Given the description of an element on the screen output the (x, y) to click on. 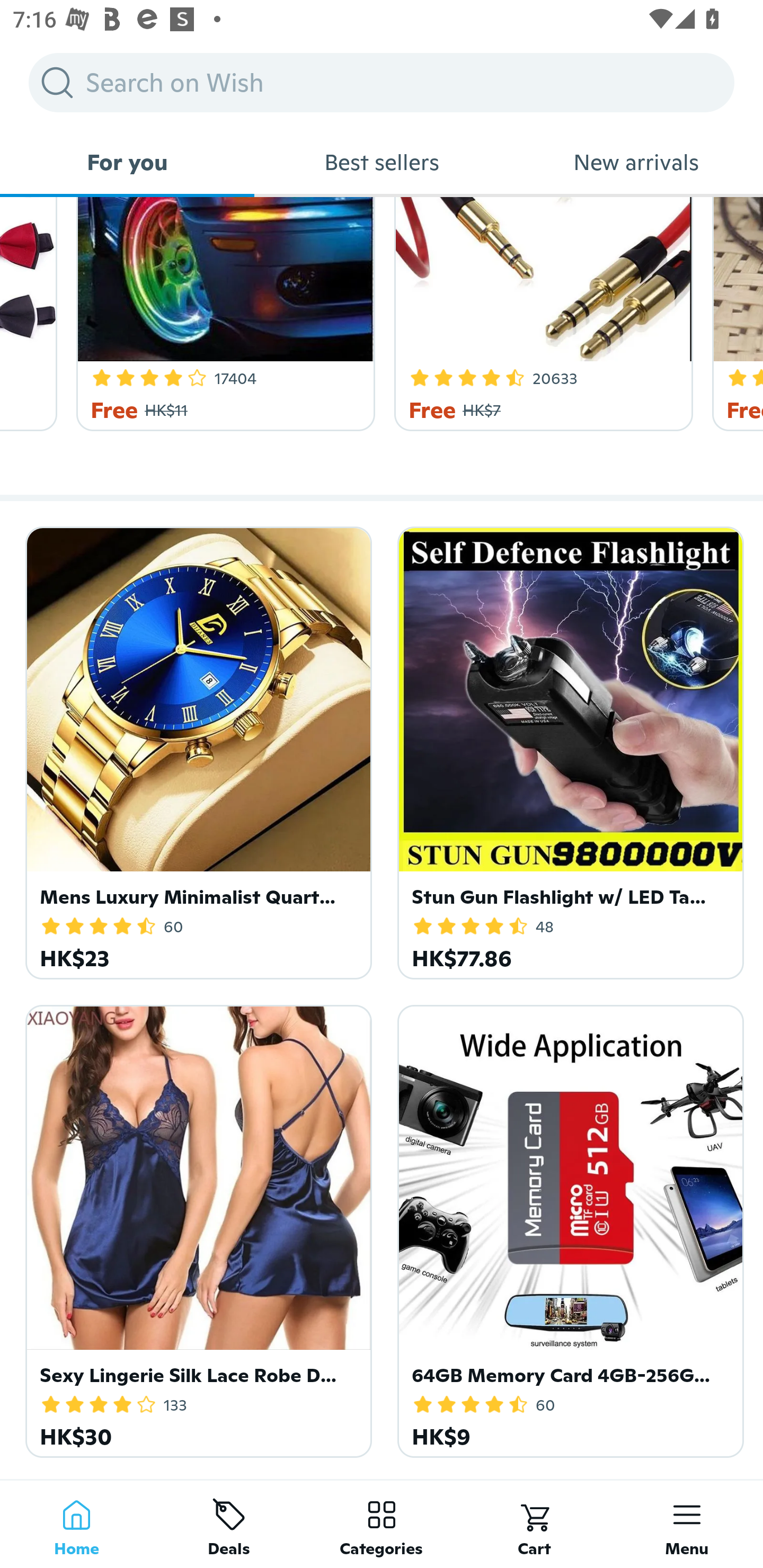
Search on Wish (381, 82)
For you (127, 161)
Best sellers (381, 161)
New arrivals (635, 161)
3.8 Star Rating 17404 Free HK$11 (222, 314)
4.3 Star Rating 20633 Free HK$7 (539, 314)
Home (76, 1523)
Deals (228, 1523)
Categories (381, 1523)
Cart (533, 1523)
Menu (686, 1523)
